Given the description of an element on the screen output the (x, y) to click on. 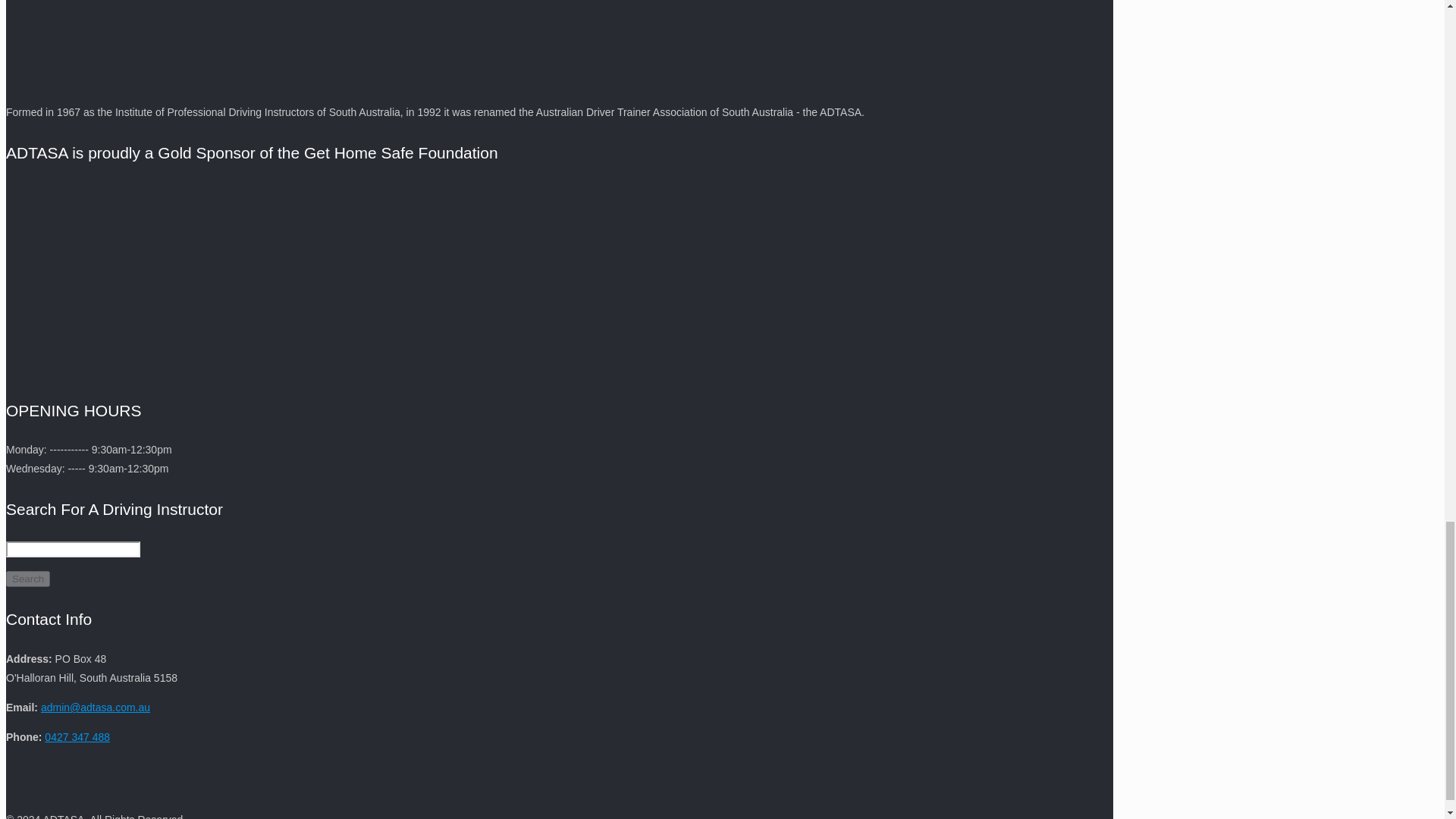
Search (27, 578)
0427 347 488 (77, 736)
Search (27, 578)
Search (27, 578)
